Given the description of an element on the screen output the (x, y) to click on. 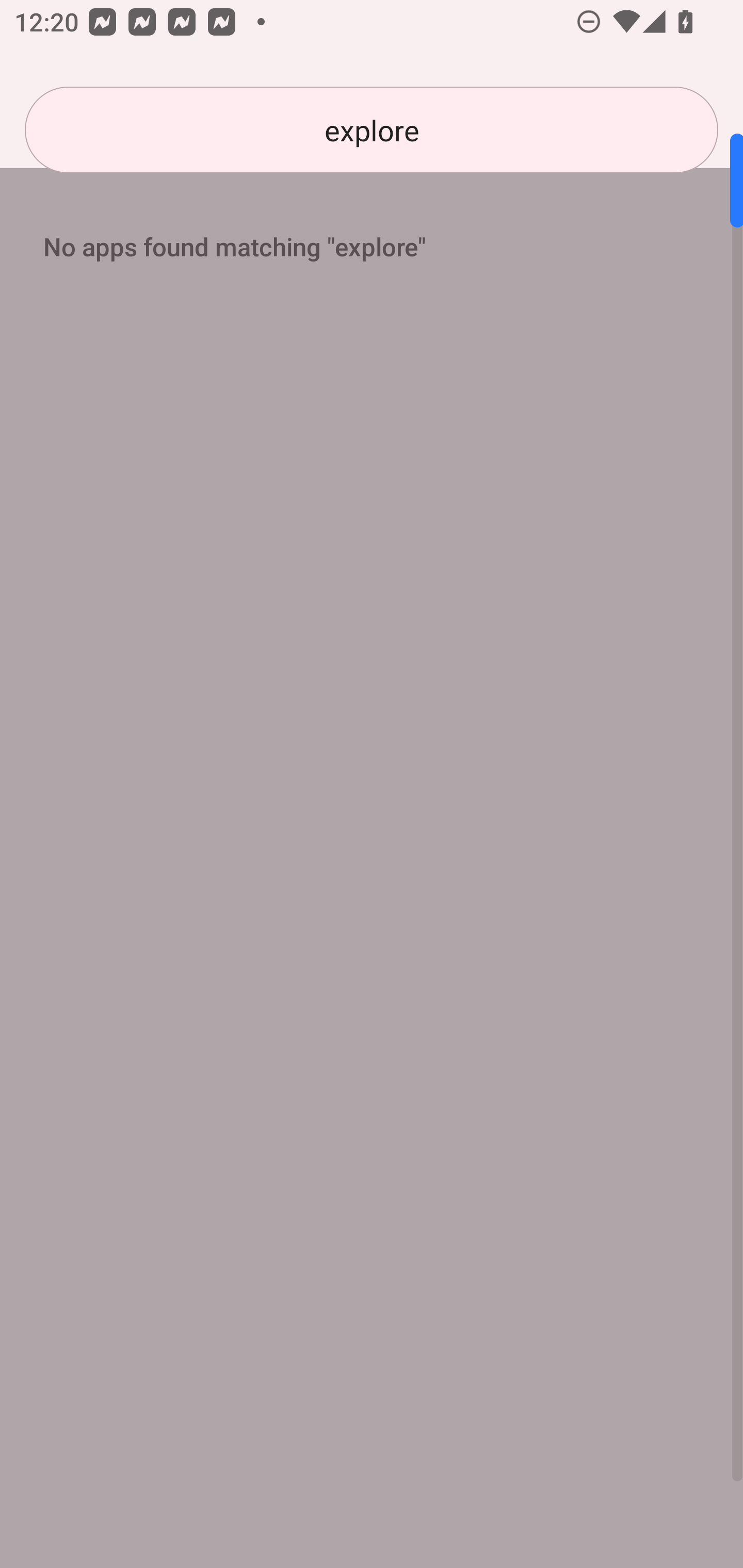
explore (371, 130)
